Given the description of an element on the screen output the (x, y) to click on. 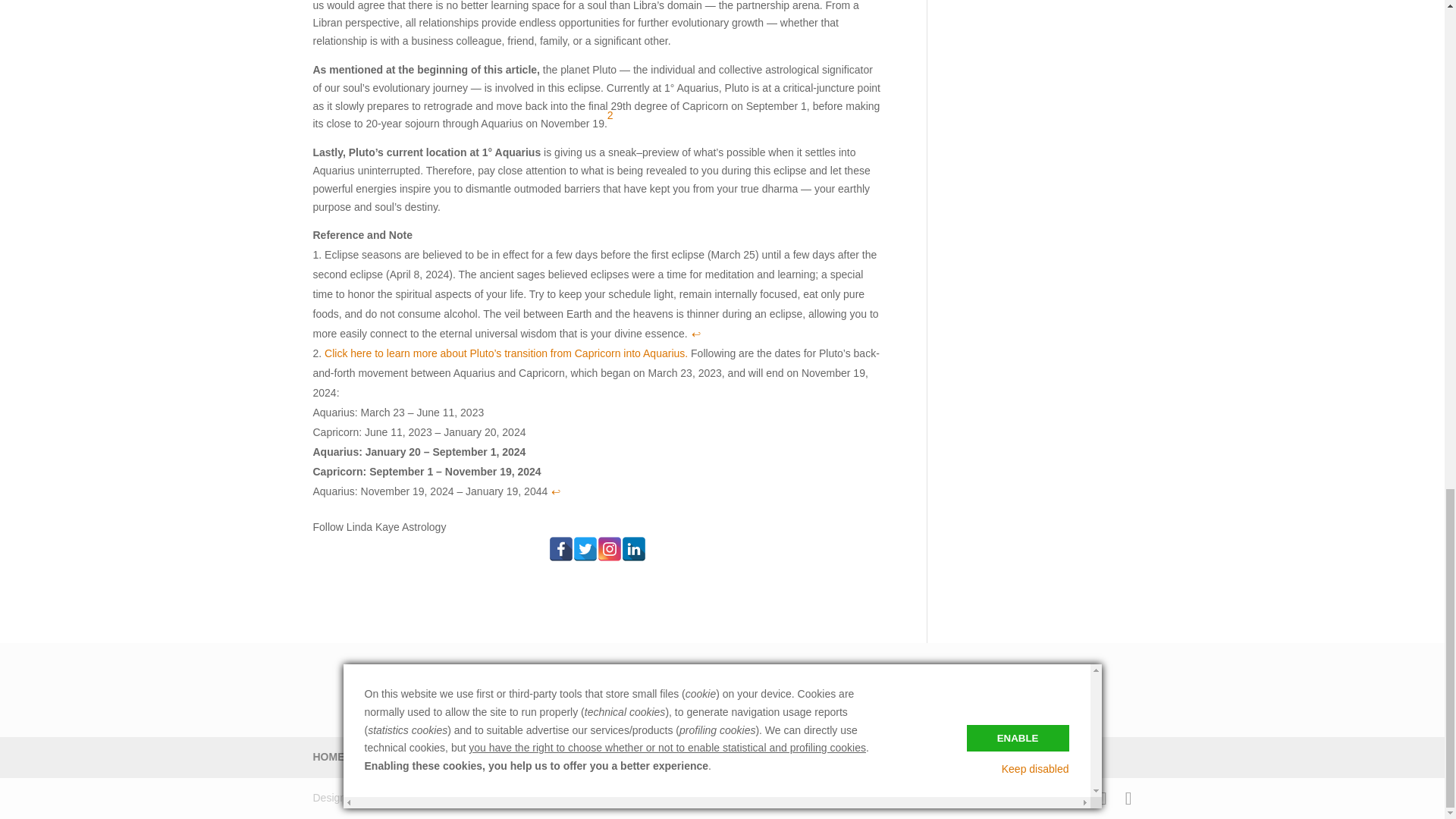
Instagram (608, 549)
Premium WordPress Themes (414, 797)
LinkedIn (633, 549)
Facebook (560, 549)
Twitter (584, 549)
